Given the description of an element on the screen output the (x, y) to click on. 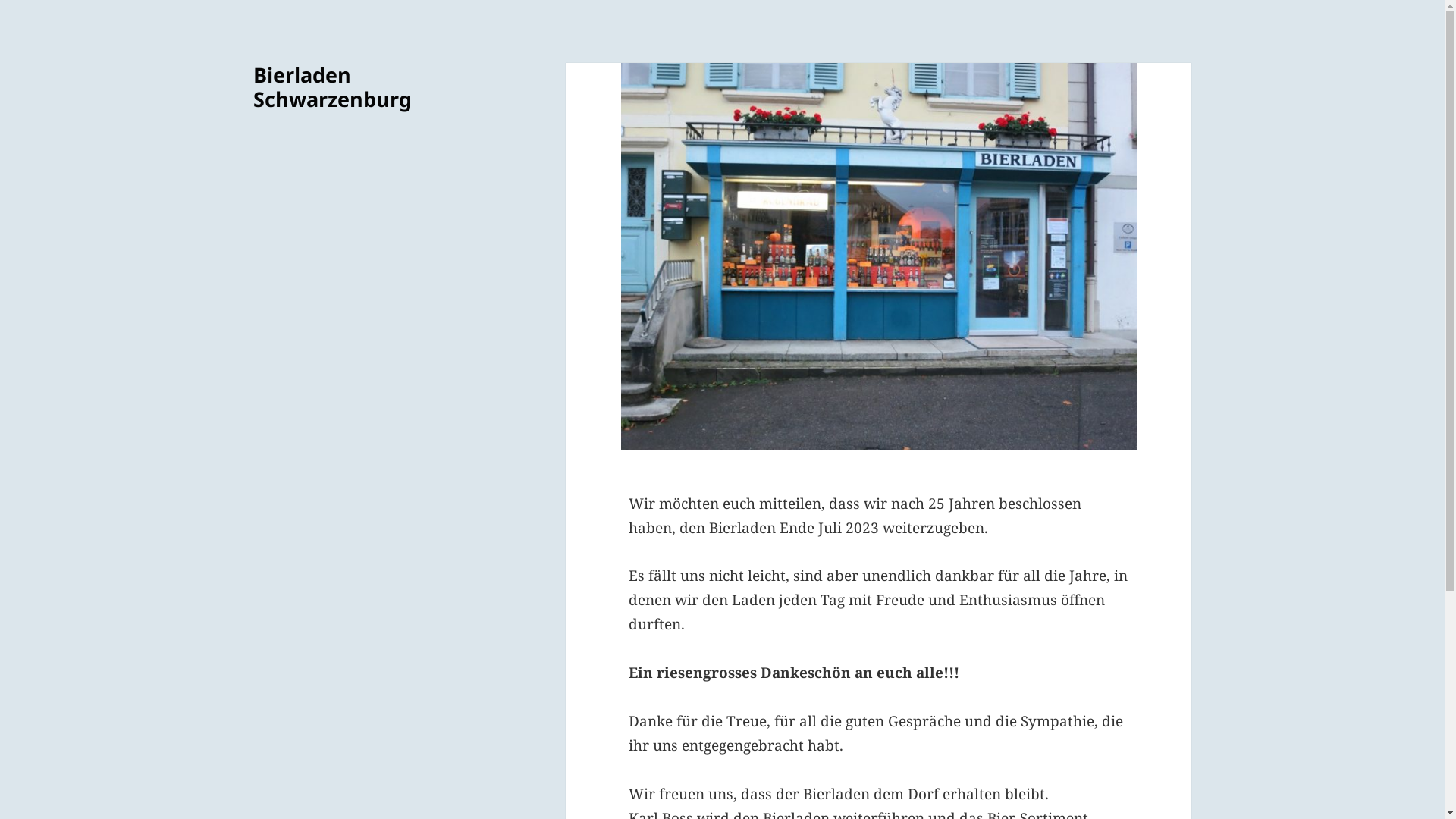
Bierladen Schwarzenburg Element type: text (332, 86)
